Given the description of an element on the screen output the (x, y) to click on. 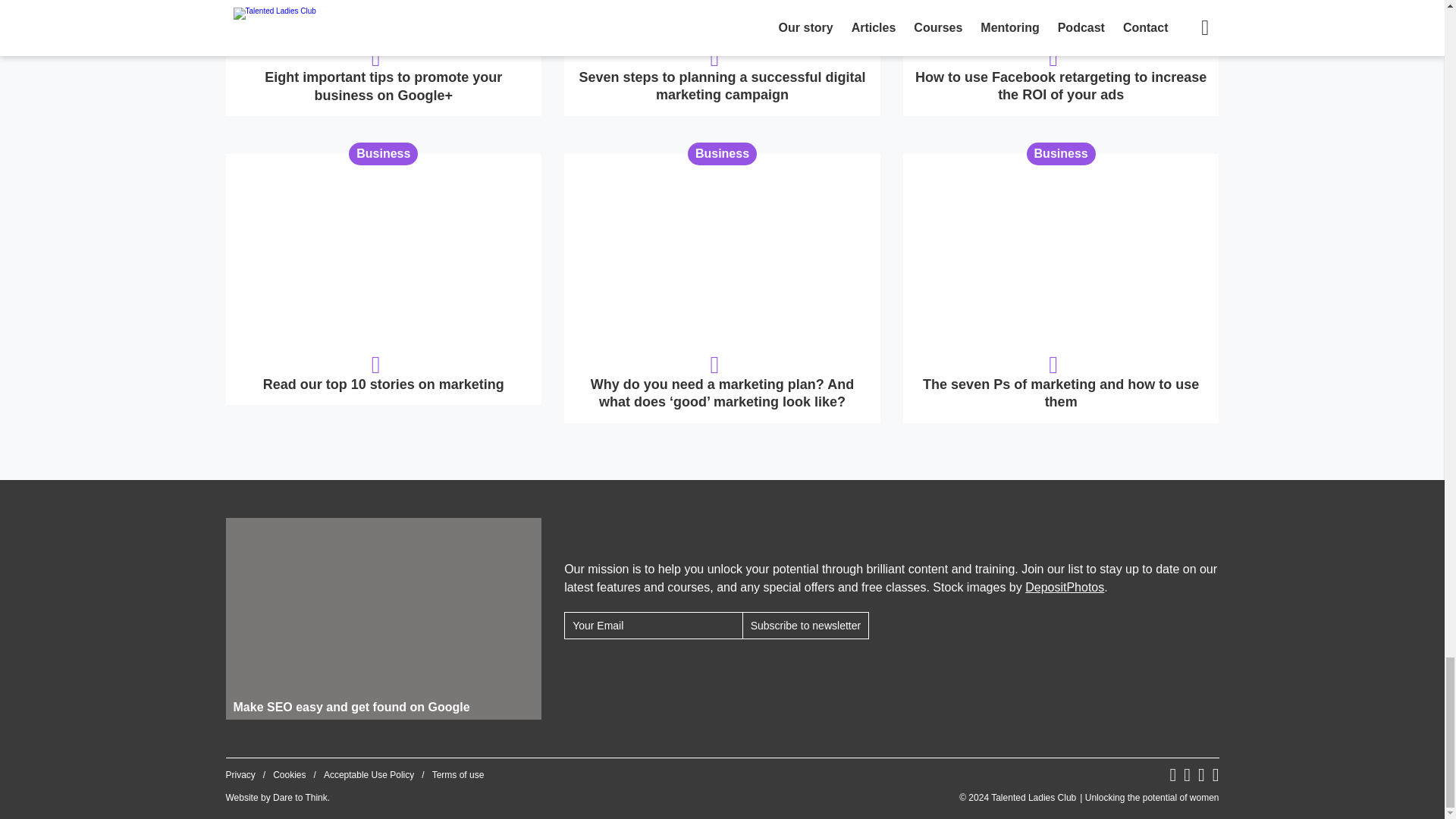
Website design and development services from Dare to Think (300, 797)
Subscribe to newsletter (805, 625)
The seven Ps of marketing and how to use them (1061, 288)
Read our top 10 stories on marketing (383, 278)
